Given the description of an element on the screen output the (x, y) to click on. 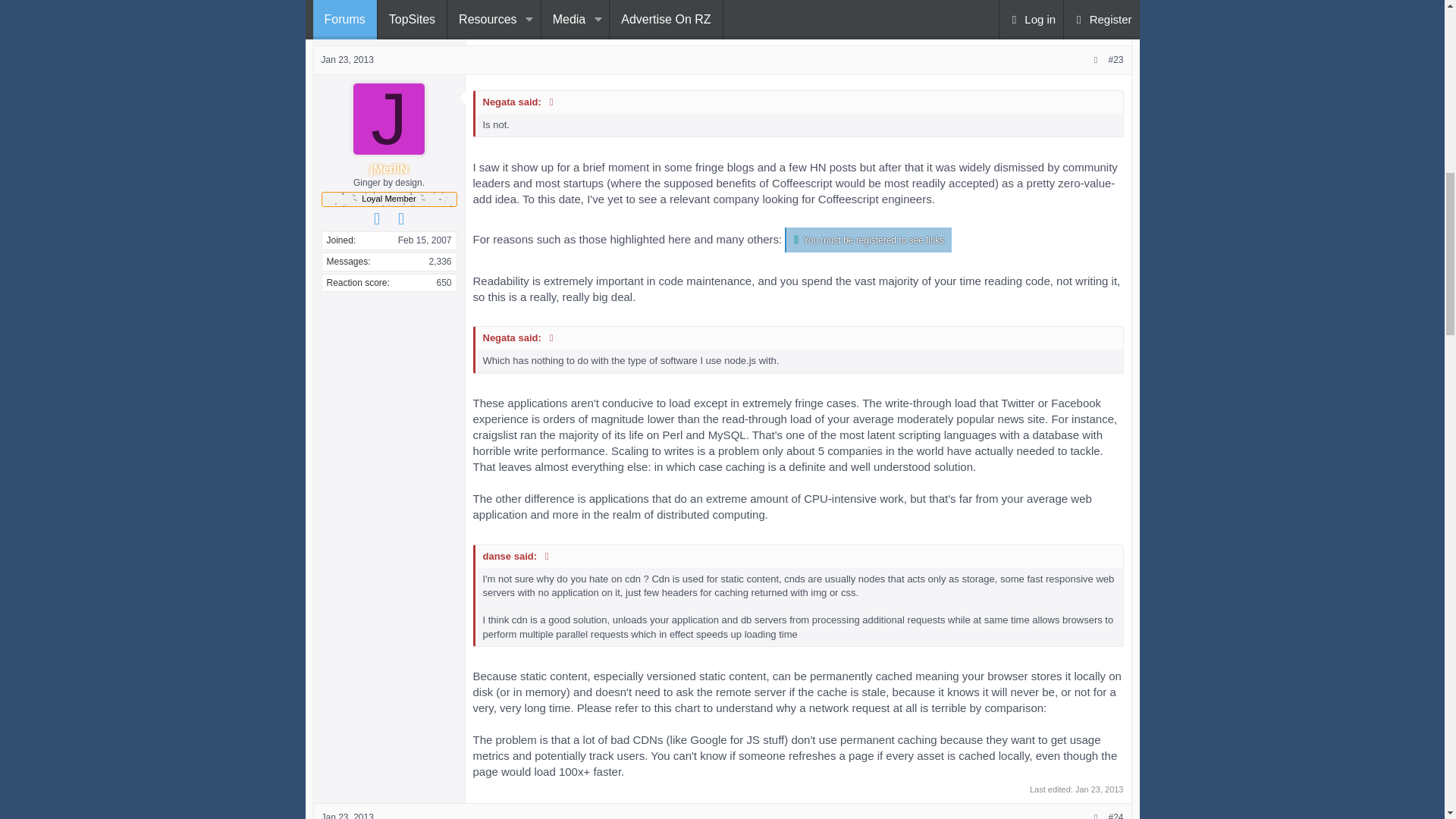
Jan 23, 2013 at 8:34 AM (347, 815)
Jan 23, 2013 at 8:15 AM (1099, 788)
Jan 23, 2013 at 8:03 AM (347, 59)
